Given the description of an element on the screen output the (x, y) to click on. 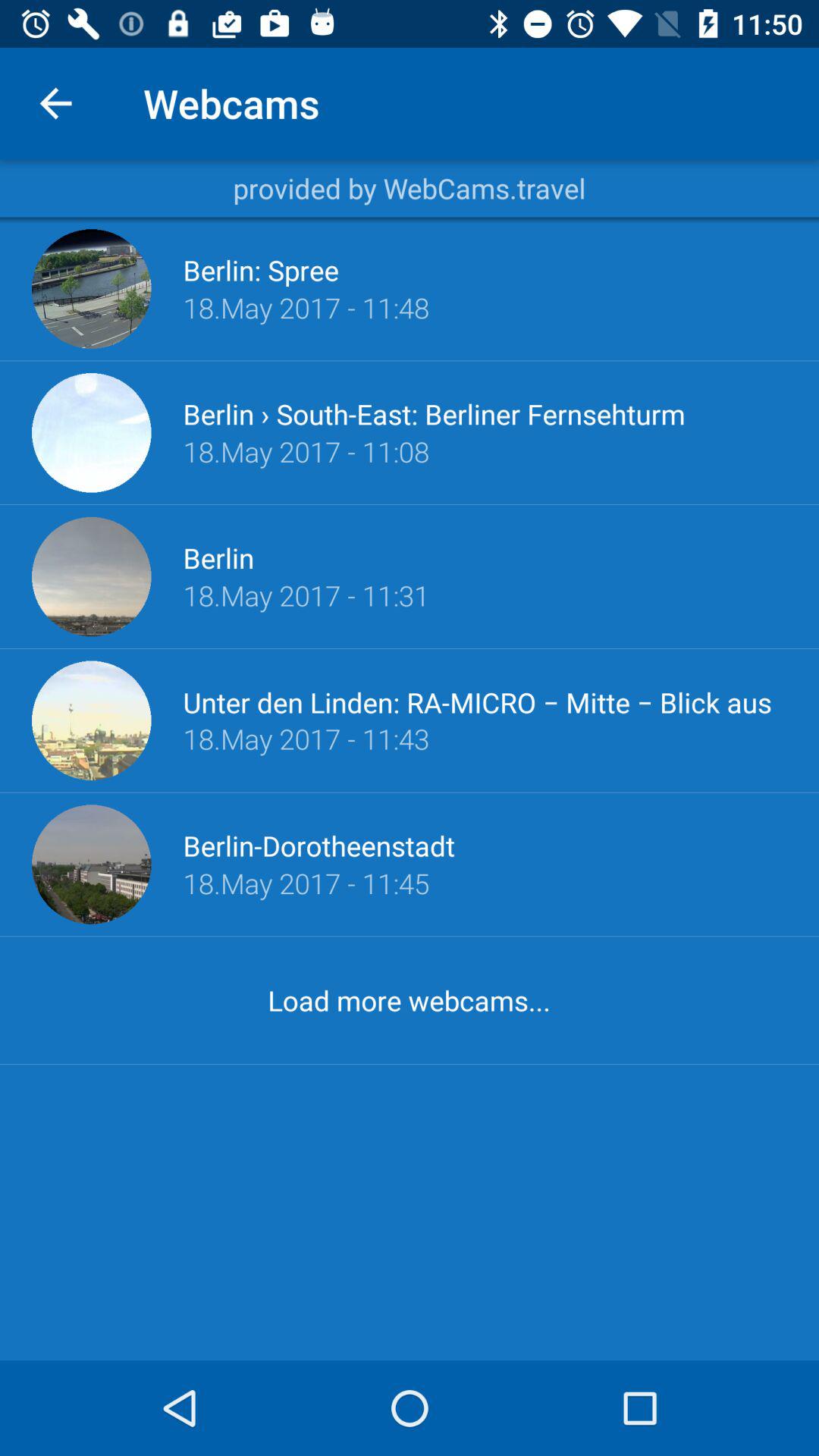
open the unter den linden item (485, 701)
